Given the description of an element on the screen output the (x, y) to click on. 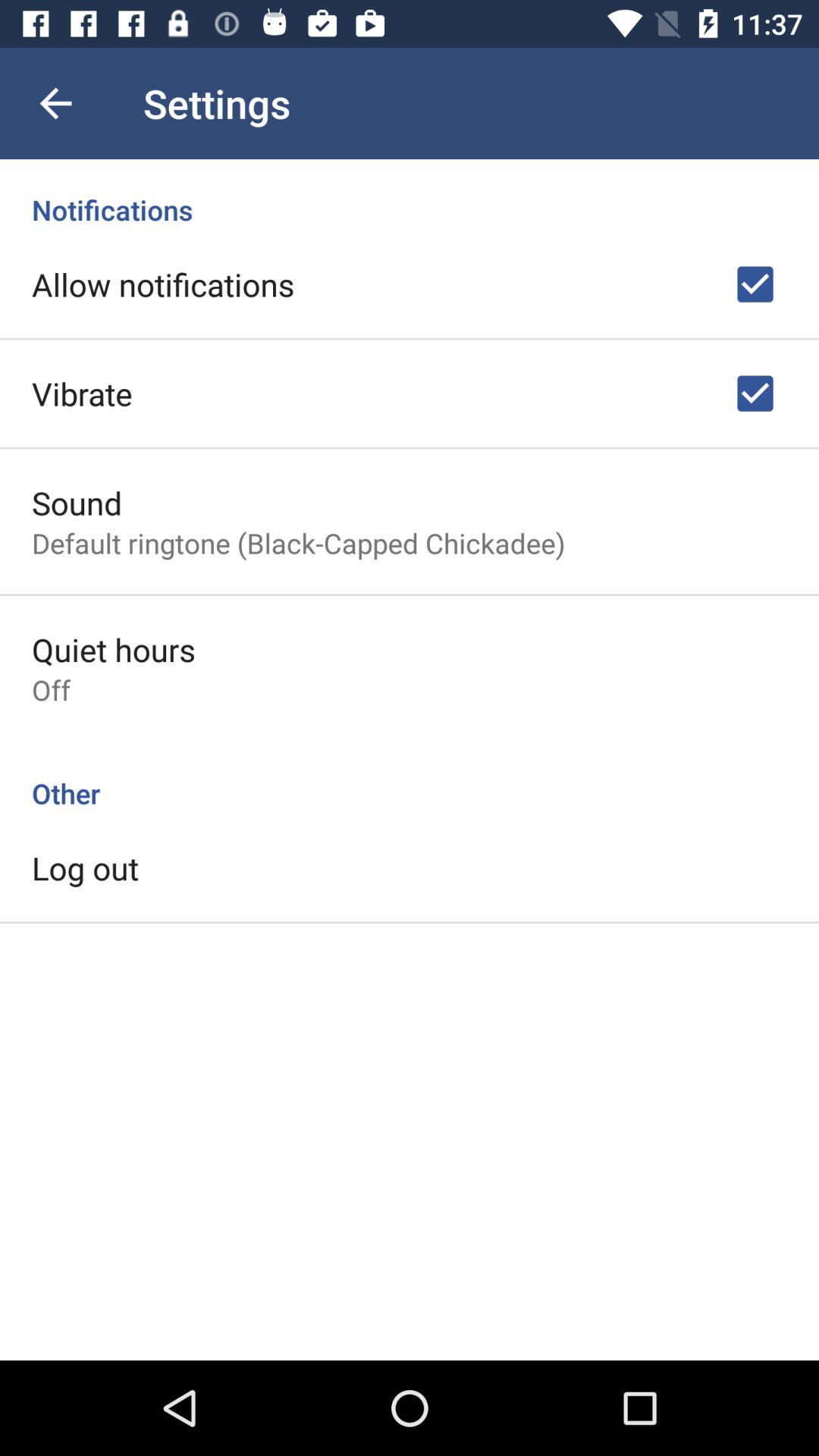
turn on other icon (409, 777)
